Given the description of an element on the screen output the (x, y) to click on. 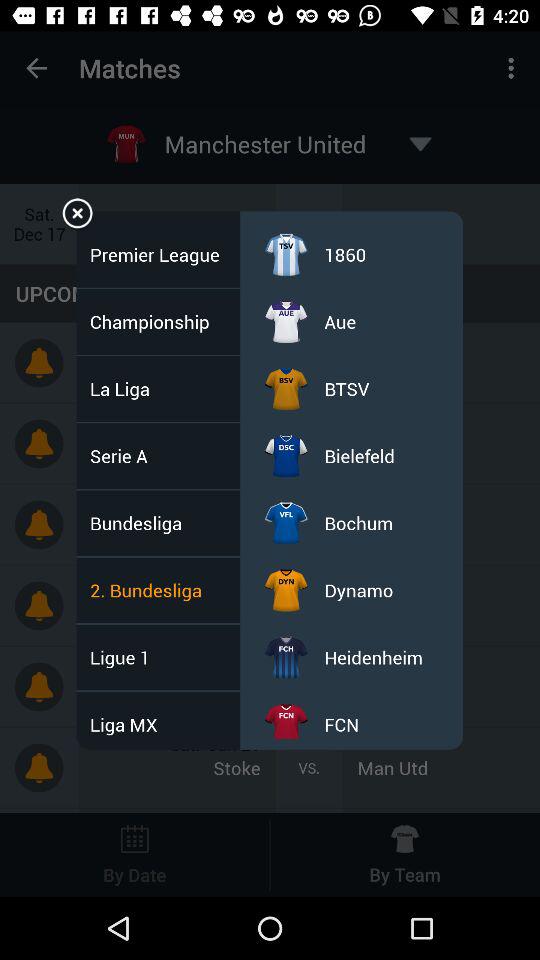
exit (77, 216)
